Given the description of an element on the screen output the (x, y) to click on. 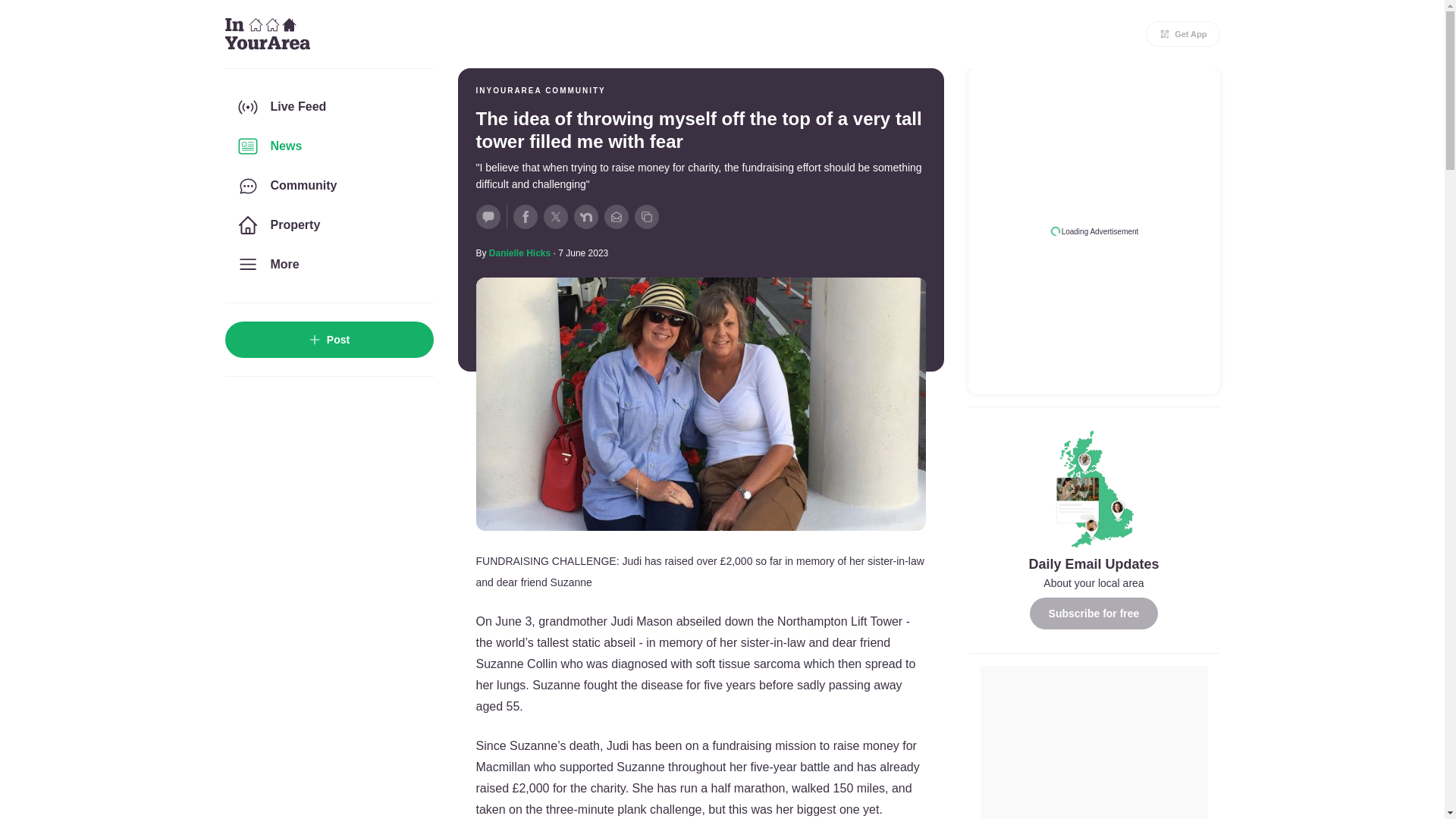
Post (328, 339)
Live Feed (328, 106)
Get App (1182, 33)
Social Button (488, 216)
Share to Facebook (524, 216)
Get App (1182, 33)
Share to Nextdoor (584, 216)
INYOURAREA COMMUNITY (540, 90)
Property (328, 224)
Copy to clipboard (645, 216)
